Given the description of an element on the screen output the (x, y) to click on. 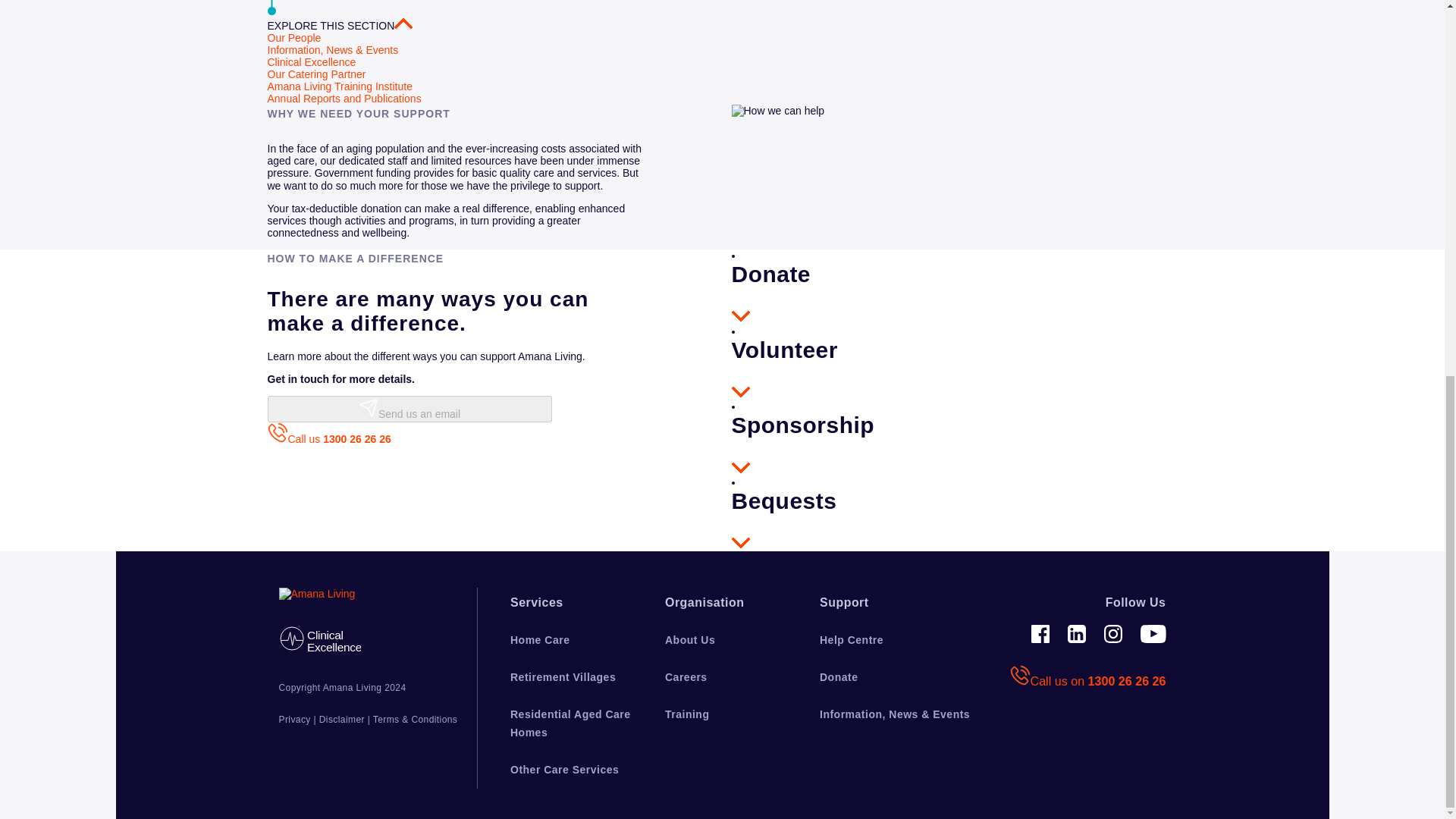
Combined Shape Copy (739, 467)
phone (320, 638)
Combined Shape Copy (276, 432)
Combined Shape Copy (739, 542)
Combined Shape Copy (403, 23)
Shape (739, 391)
Combined Shape Copy (368, 407)
